Given the description of an element on the screen output the (x, y) to click on. 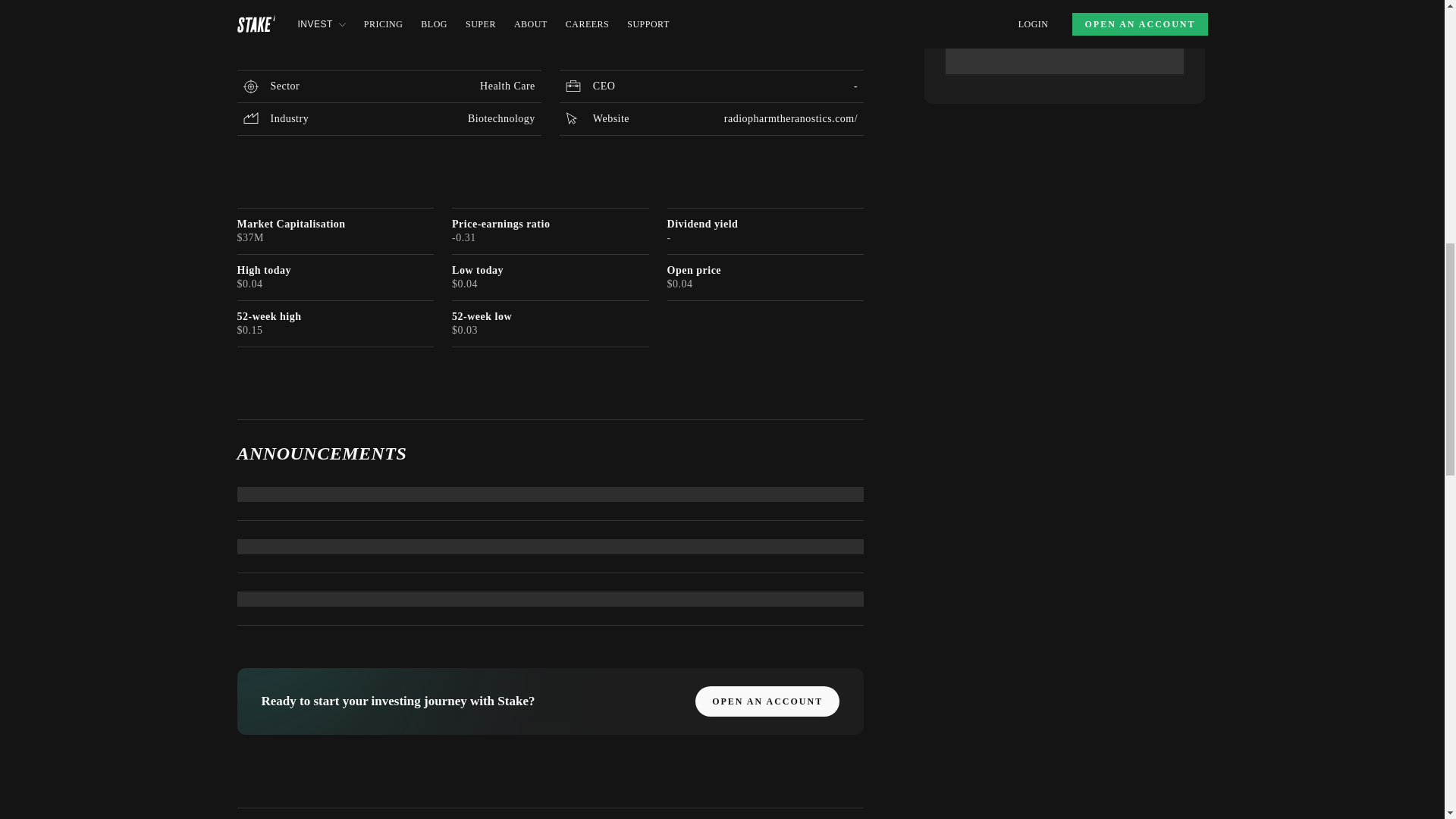
Buy Australian shares (286, 31)
OPEN AN ACCOUNT (767, 701)
